Given the description of an element on the screen output the (x, y) to click on. 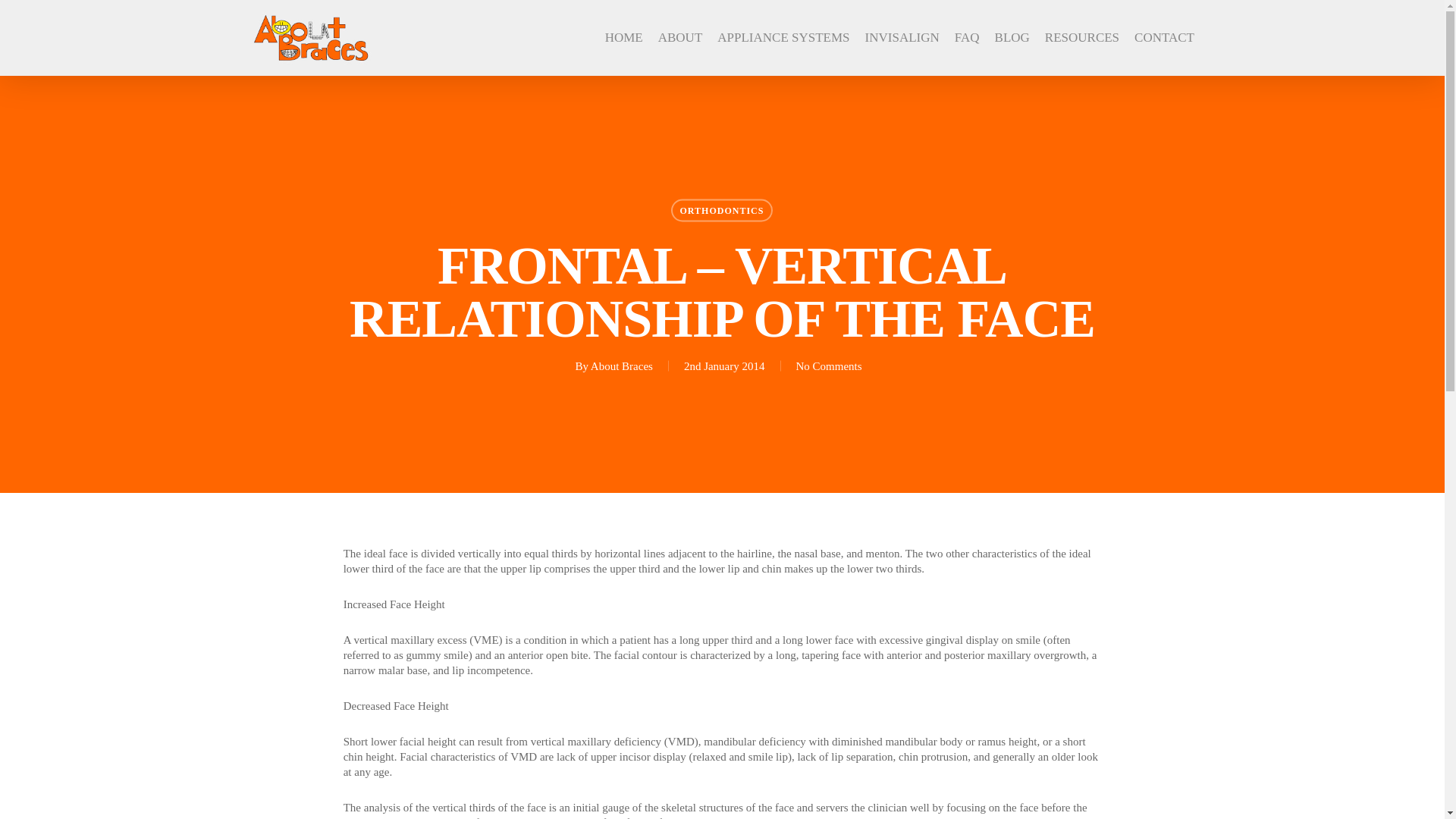
APPLIANCE SYSTEMS (782, 37)
About Braces (621, 365)
CONTACT (1163, 37)
Posts by About Braces (621, 365)
RESOURCES (1082, 37)
ORTHODONTICS (722, 210)
No Comments (828, 365)
HOME (624, 37)
INVISALIGN (901, 37)
FAQ (967, 37)
ABOUT (680, 37)
BLOG (1011, 37)
